Given the description of an element on the screen output the (x, y) to click on. 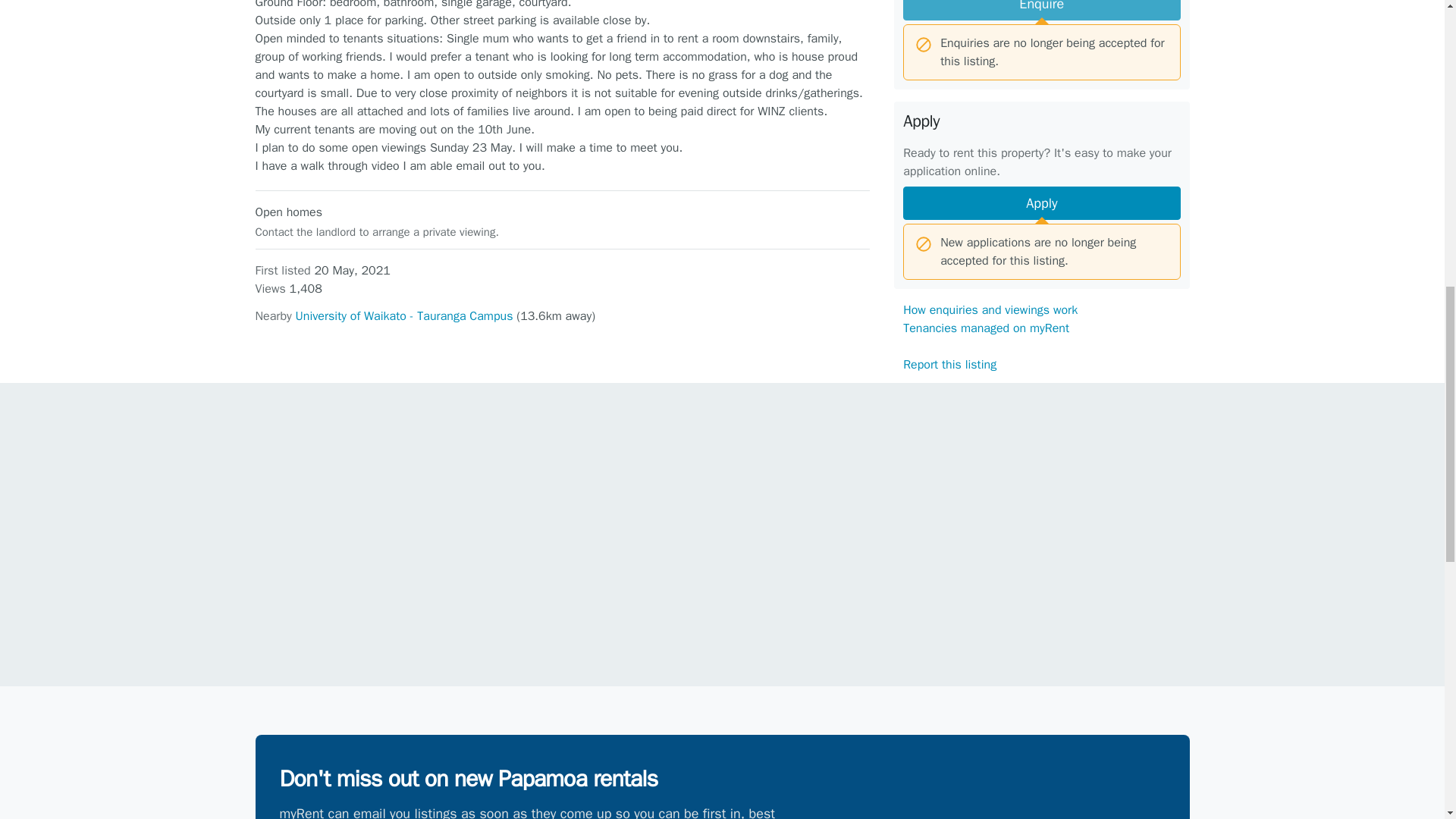
University of Waikato - Tauranga Campus (404, 315)
Report (1041, 636)
How enquiries and viewings work (989, 309)
Apply (1040, 203)
Enquire (1040, 10)
Enquire (1040, 10)
Tenancies managed on myRent (985, 328)
Report this listing (948, 364)
